Given the description of an element on the screen output the (x, y) to click on. 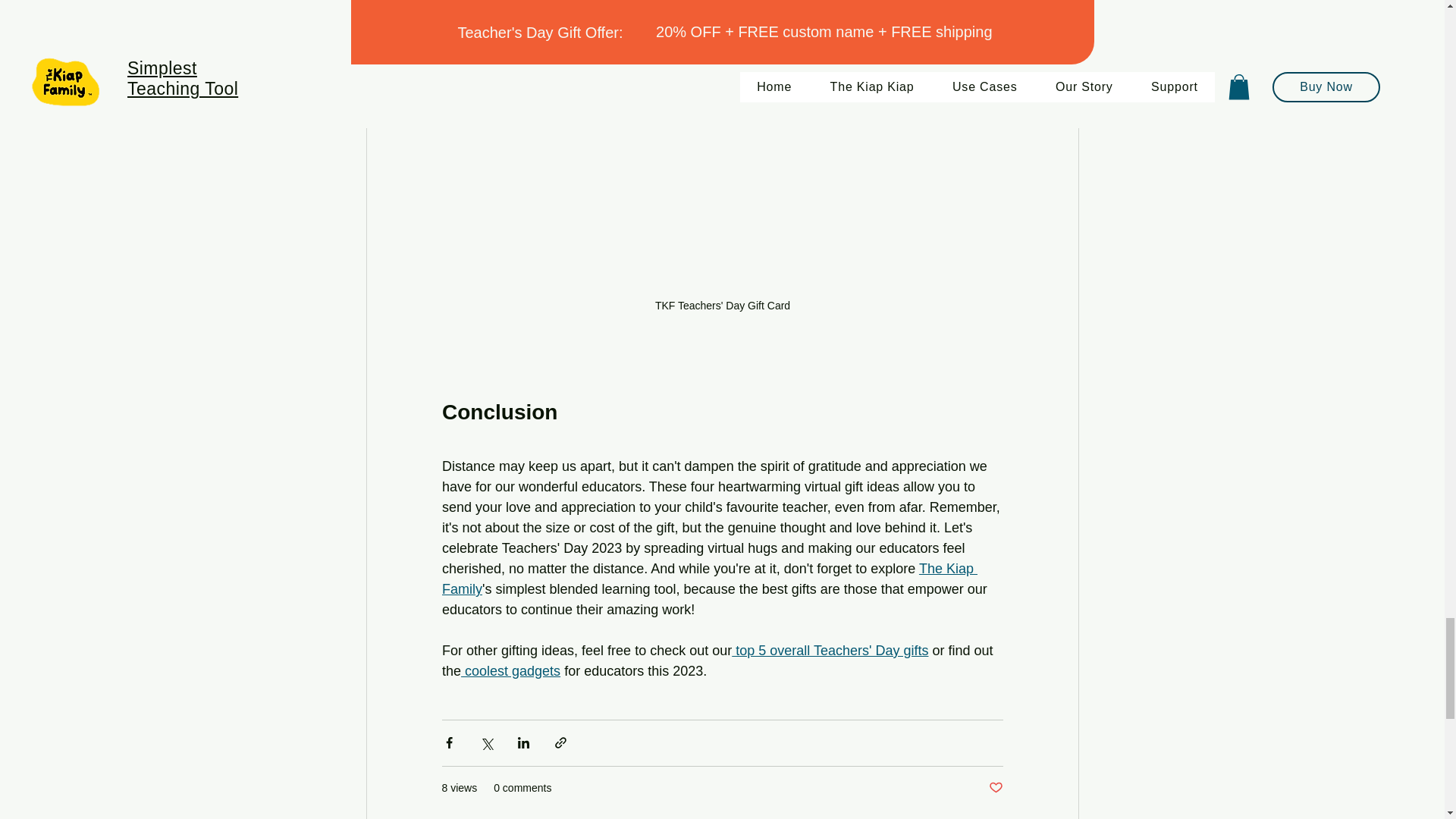
The Kiap Family (708, 579)
Post not marked as liked (995, 788)
 top 5 overall Teachers' Day gifts (830, 650)
 coolest gadgets (510, 670)
